Given the description of an element on the screen output the (x, y) to click on. 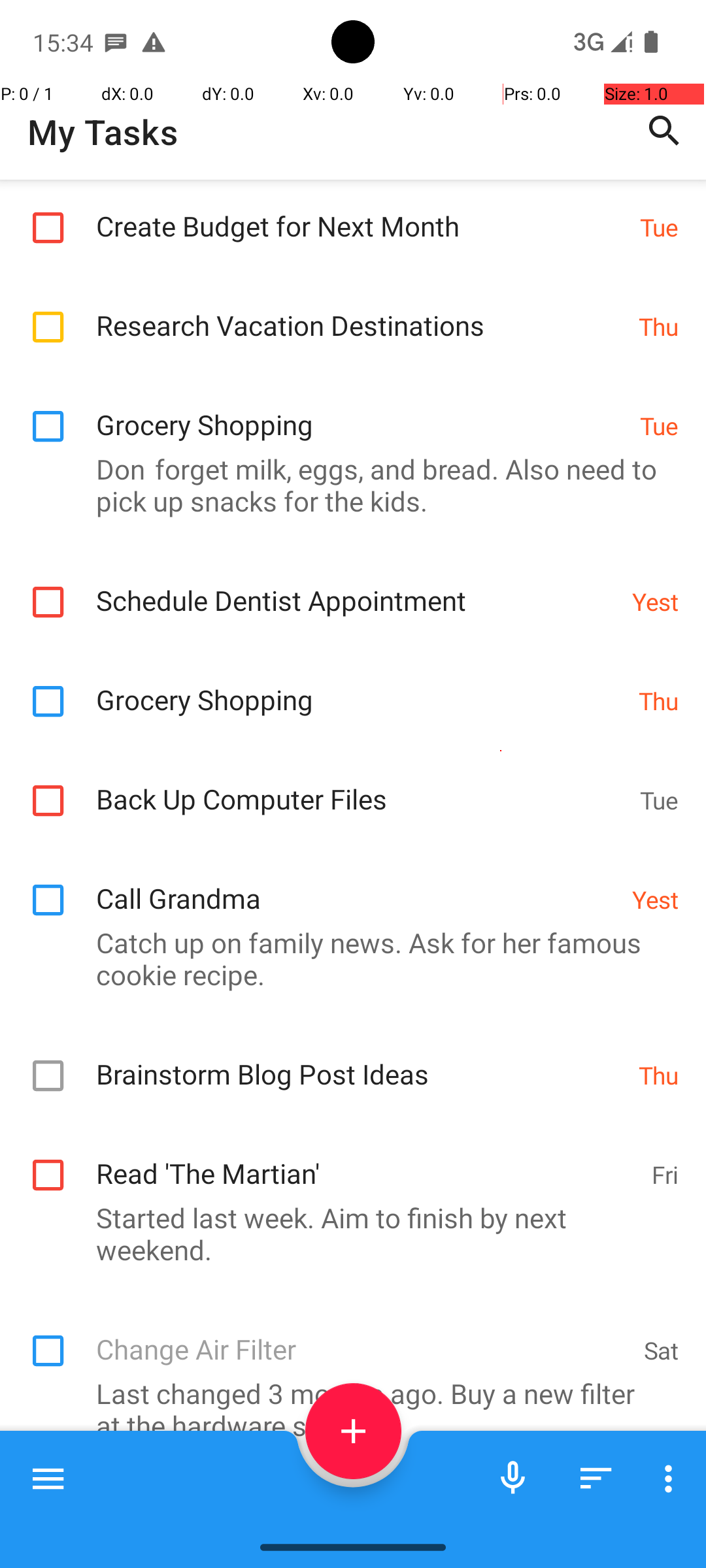
My Tasks Element type: android.widget.TextView (102, 131)
Sort Element type: android.widget.Button (595, 1478)
Create new task Element type: android.widget.ImageButton (353, 1431)
Create Budget for Next Month Element type: android.widget.TextView (361, 211)
Tue Element type: android.widget.TextView (659, 226)
Research Vacation Destinations Element type: android.widget.TextView (360, 310)
Thu Element type: android.widget.TextView (658, 325)
Grocery Shopping Element type: android.widget.TextView (361, 410)
Don	 forget milk, eggs, and bread. Also need to pick up snacks for the kids. Element type: android.widget.TextView (346, 484)
Schedule Dentist Appointment Element type: android.widget.TextView (357, 586)
Yest Element type: android.widget.TextView (655, 600)
Back Up Computer Files Element type: android.widget.TextView (361, 784)
Call Grandma Element type: android.widget.TextView (357, 883)
Catch up on family news. Ask for her famous cookie recipe. Element type: android.widget.TextView (346, 958)
Brainstorm Blog Post Ideas Element type: android.widget.TextView (360, 1059)
Read 'The Martian' Element type: android.widget.TextView (367, 1159)
Started last week. Aim to finish by next weekend. Element type: android.widget.TextView (346, 1233)
Fri Element type: android.widget.TextView (665, 1173)
Change Air Filter Element type: android.widget.TextView (363, 1334)
Last changed 3 months ago. Buy a new filter at the hardware store. Element type: android.widget.TextView (346, 1408)
Sat Element type: android.widget.TextView (661, 1349)
Organize files and folders Element type: android.widget.TextView (357, 1524)
Tmrw Element type: android.widget.TextView (174, 1473)
